Given the description of an element on the screen output the (x, y) to click on. 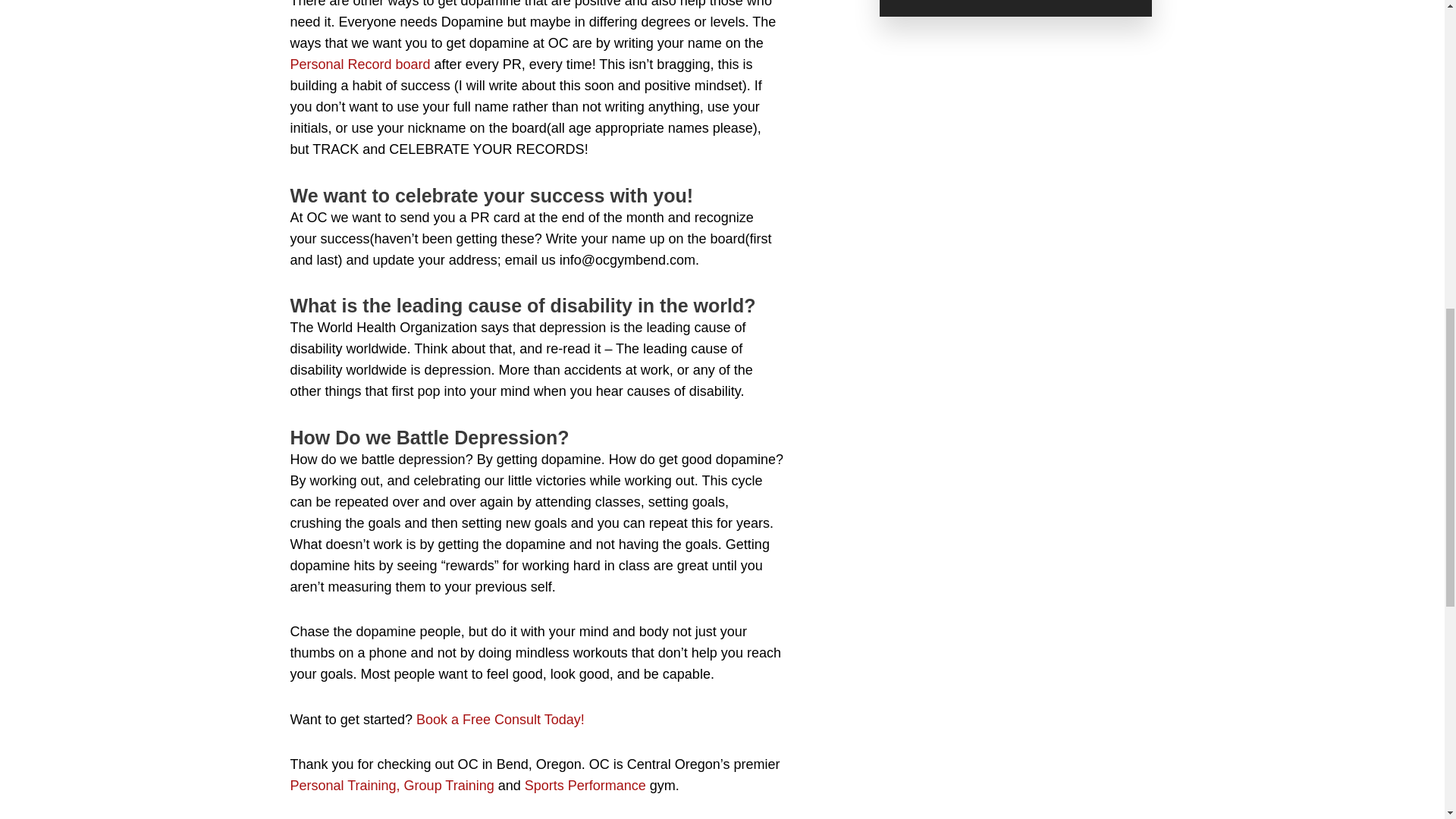
Personal Training, (343, 785)
Book a Free Consult Today! (500, 719)
Personal Record board (359, 64)
Sports Performance (586, 785)
Group Training (450, 785)
